Given the description of an element on the screen output the (x, y) to click on. 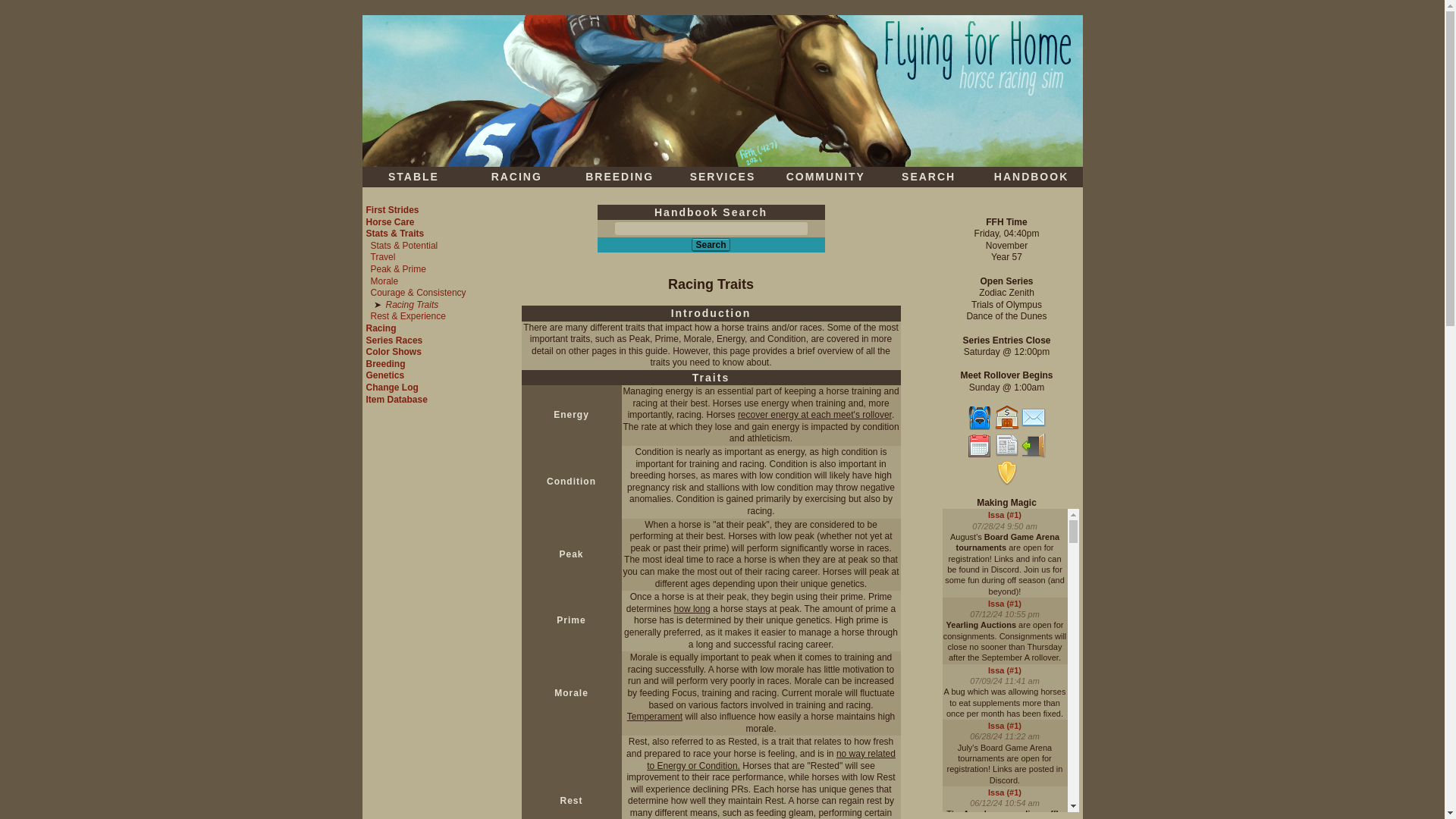
Racing Traits (411, 304)
Genetics (384, 375)
Travel (381, 256)
Morale (383, 281)
COMMUNITY (825, 176)
BREEDING (619, 176)
Bank (1006, 417)
Racing (380, 327)
News (1006, 445)
Series Races (393, 339)
STABLE (413, 176)
Search (710, 244)
RACING (516, 176)
Search (710, 244)
Inventory (979, 417)
